Given the description of an element on the screen output the (x, y) to click on. 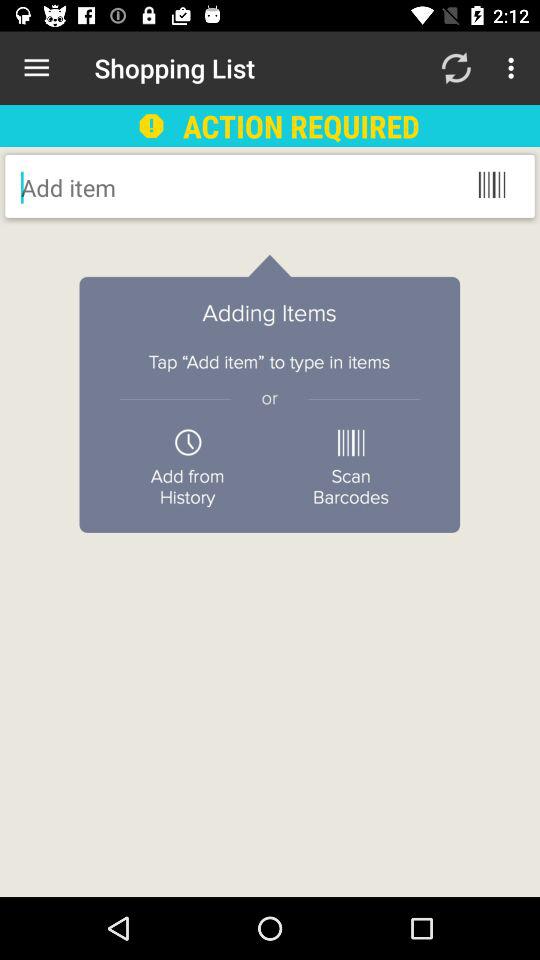
add item (181, 187)
